Given the description of an element on the screen output the (x, y) to click on. 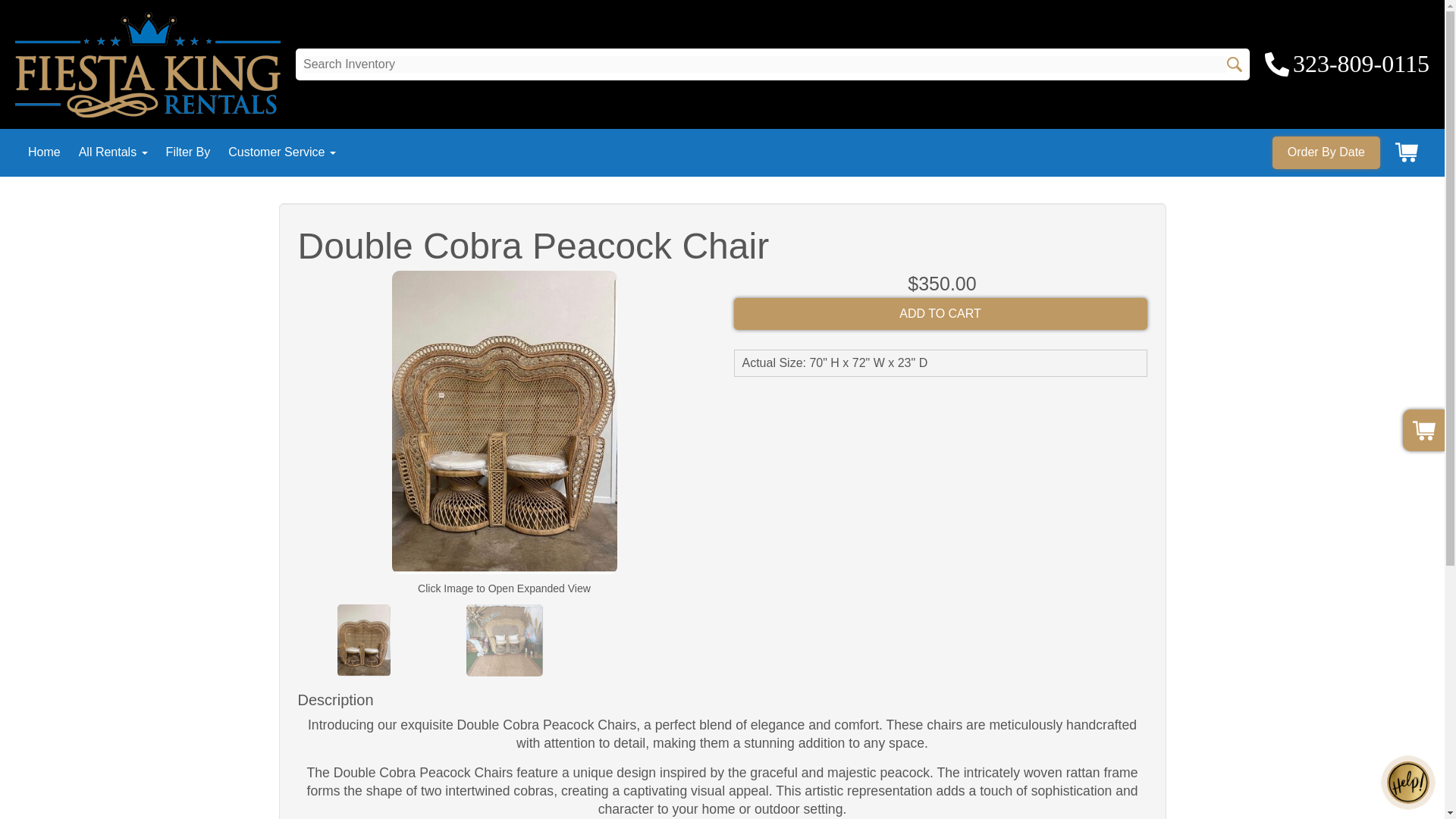
Customer Service (282, 151)
Fiesta King Event Rentals LLC (147, 64)
All Rentals (113, 151)
Home (44, 151)
323-809-0115 (1347, 63)
Order By Date (1326, 152)
Filter By (188, 151)
